Given the description of an element on the screen output the (x, y) to click on. 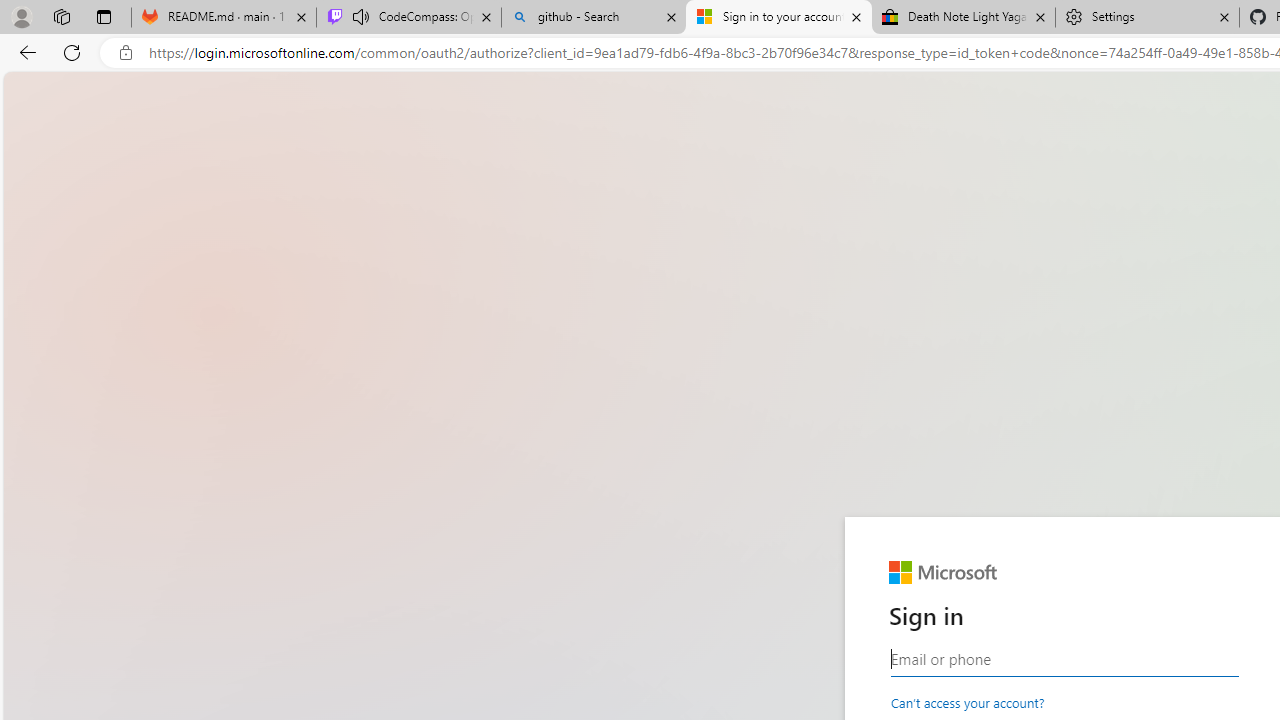
Sign in to your account (779, 17)
Enter your email or phone (1064, 659)
github - Search (593, 17)
Microsoft (943, 573)
